Given the description of an element on the screen output the (x, y) to click on. 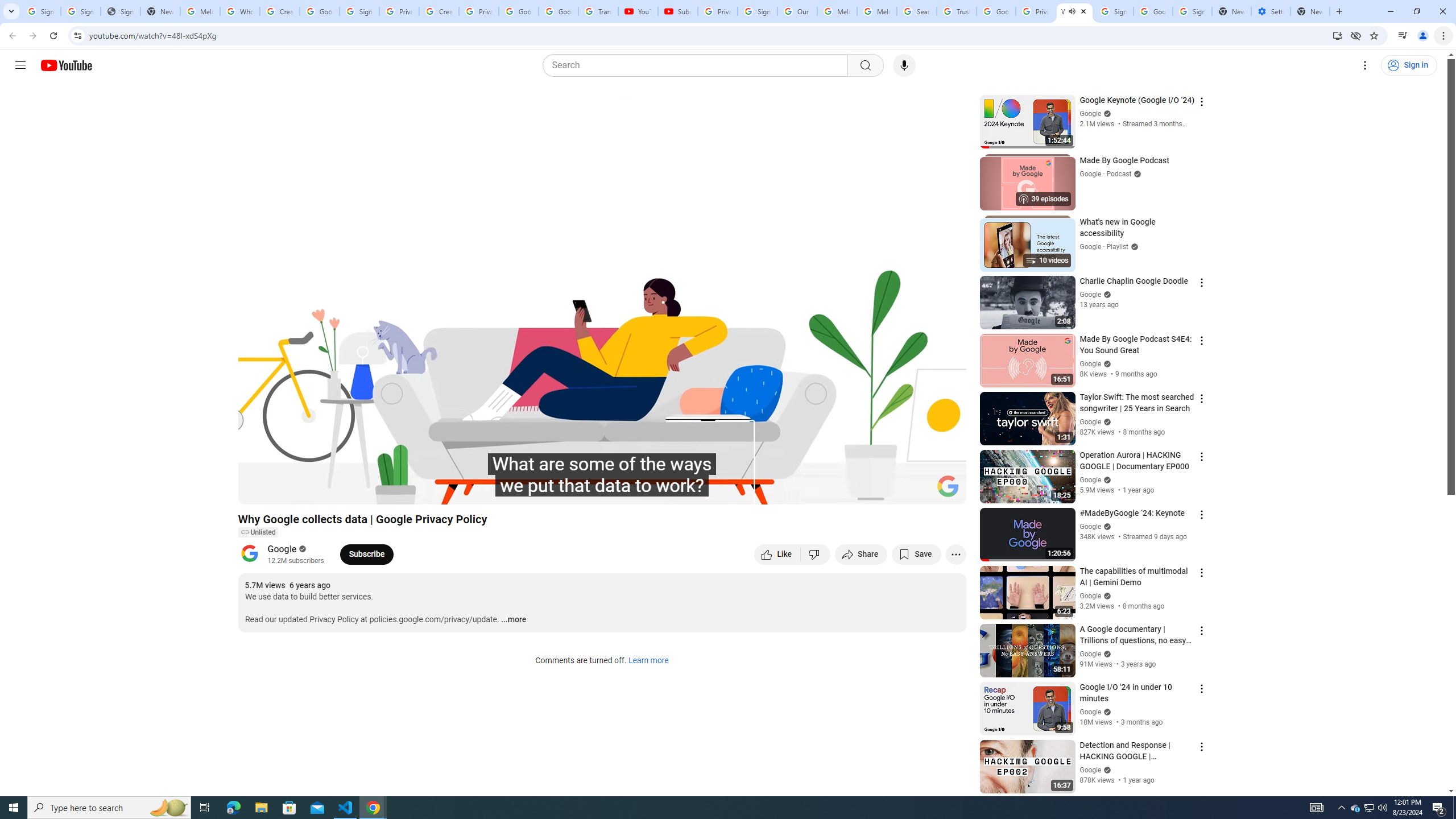
Create your Google Account (438, 11)
Full screen (f) (945, 490)
Subtitles/closed captions unavailable (836, 490)
New Tab (1310, 11)
Unlisted (257, 532)
Create your Google Account (279, 11)
Like (777, 554)
Google Ads - Sign in (995, 11)
Sign in - Google Accounts (1113, 11)
